Given the description of an element on the screen output the (x, y) to click on. 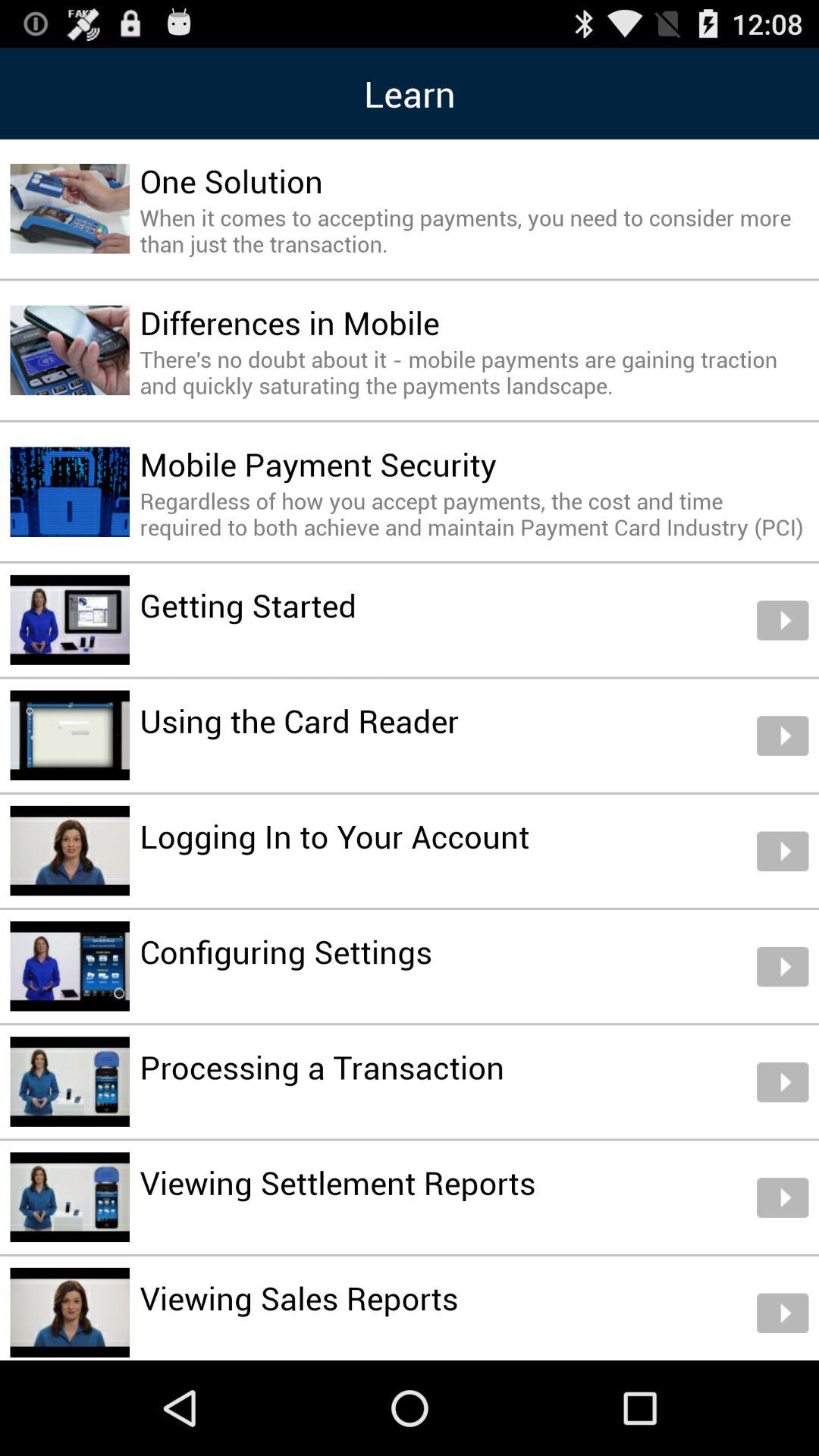
open icon below differences in mobile icon (473, 372)
